Given the description of an element on the screen output the (x, y) to click on. 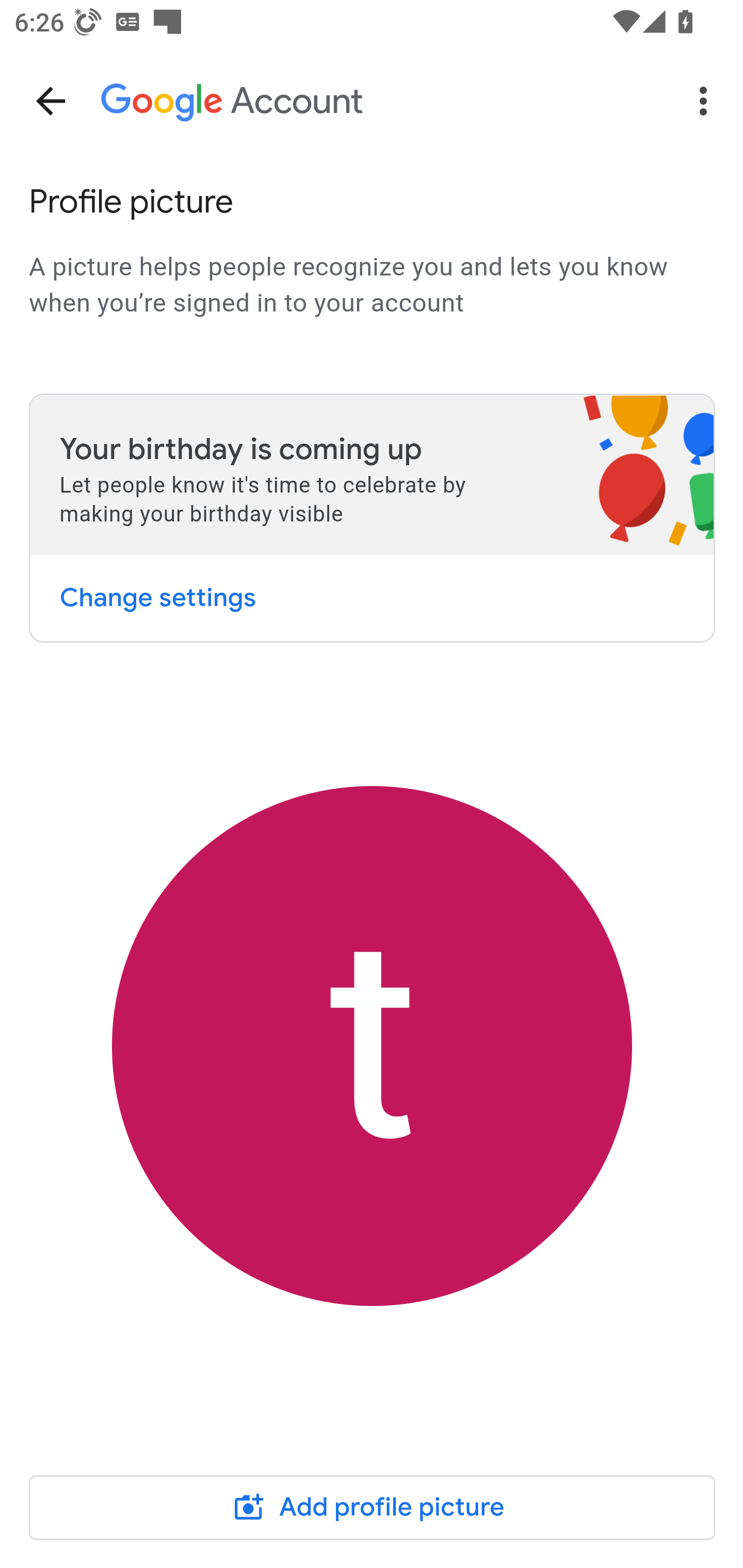
Navigate up (50, 101)
More options (706, 101)
Change settings (157, 596)
Add profile picture (372, 1506)
